Given the description of an element on the screen output the (x, y) to click on. 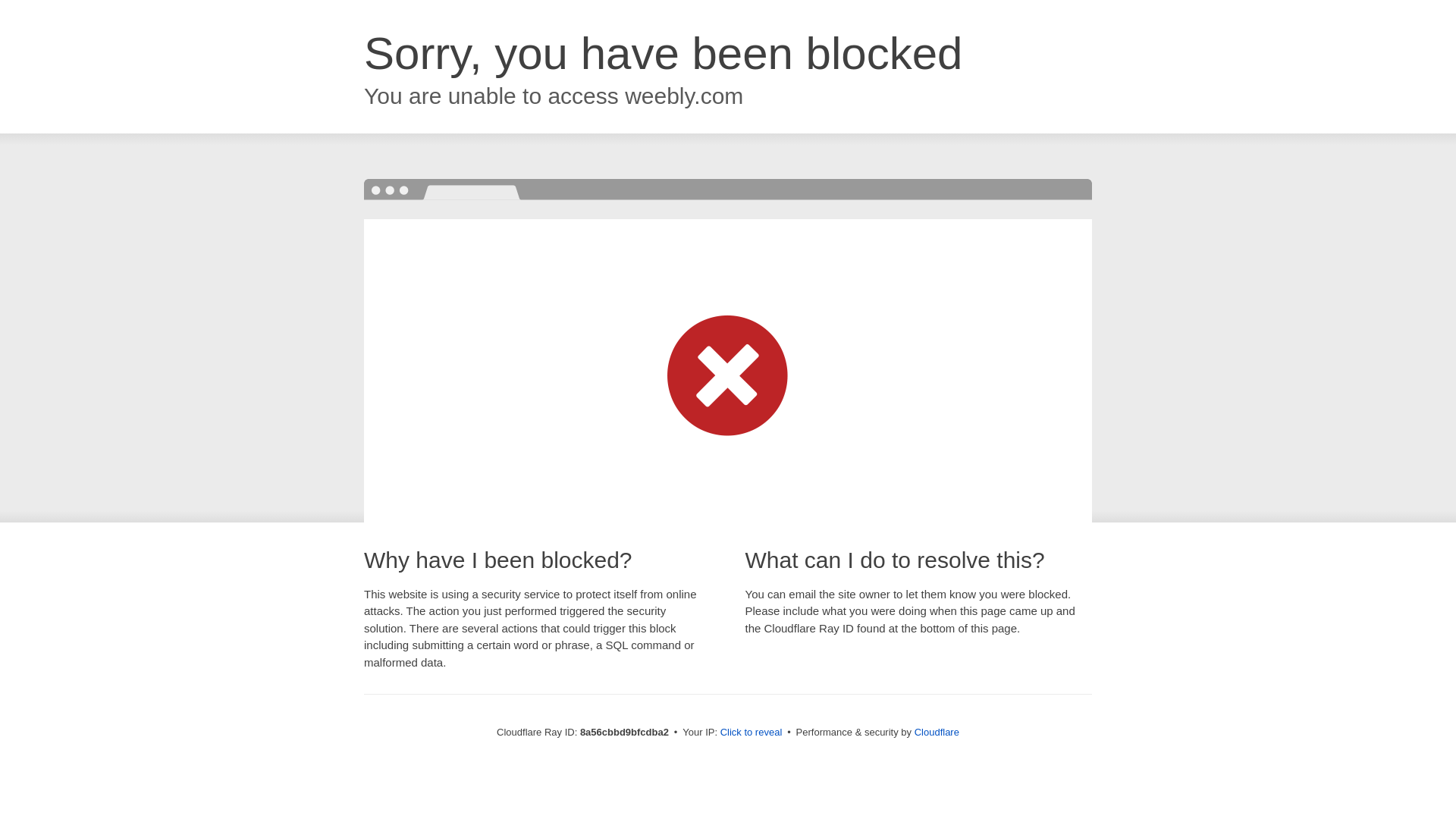
Click to reveal (751, 732)
Cloudflare (936, 731)
